Given the description of an element on the screen output the (x, y) to click on. 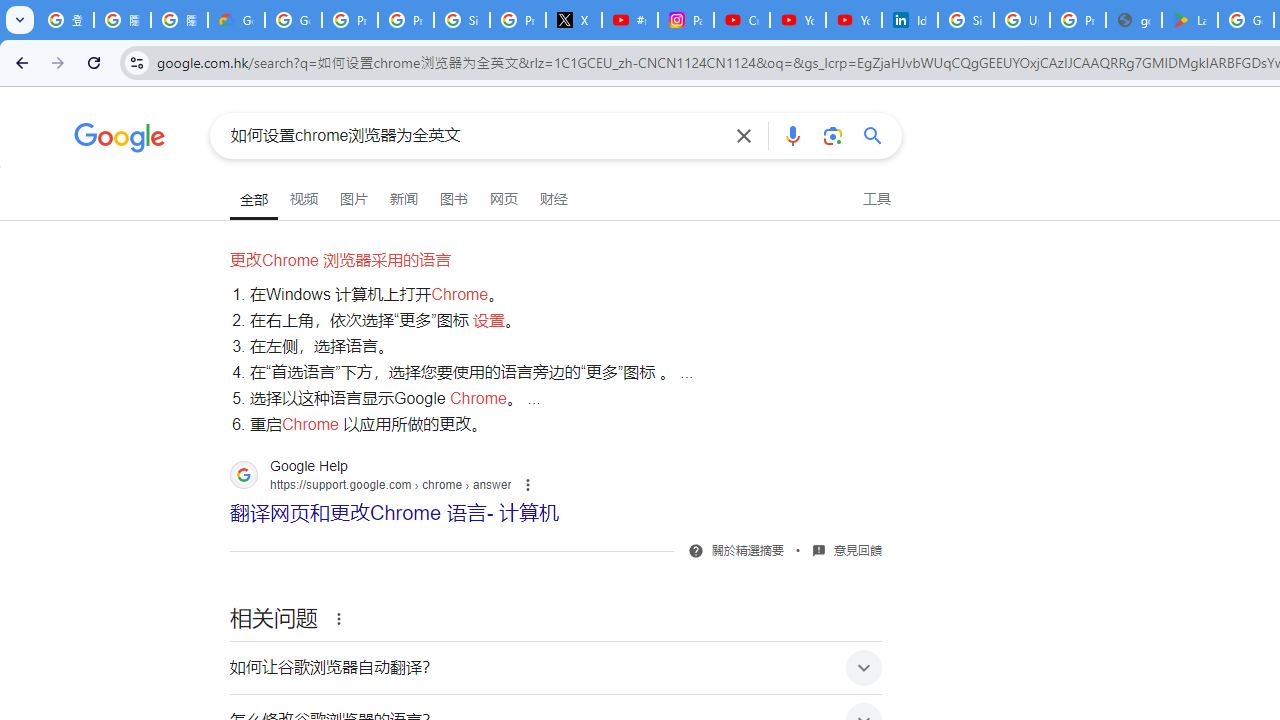
Google Cloud Privacy Notice (235, 20)
X (573, 20)
#nbabasketballhighlights - YouTube (629, 20)
